Given the description of an element on the screen output the (x, y) to click on. 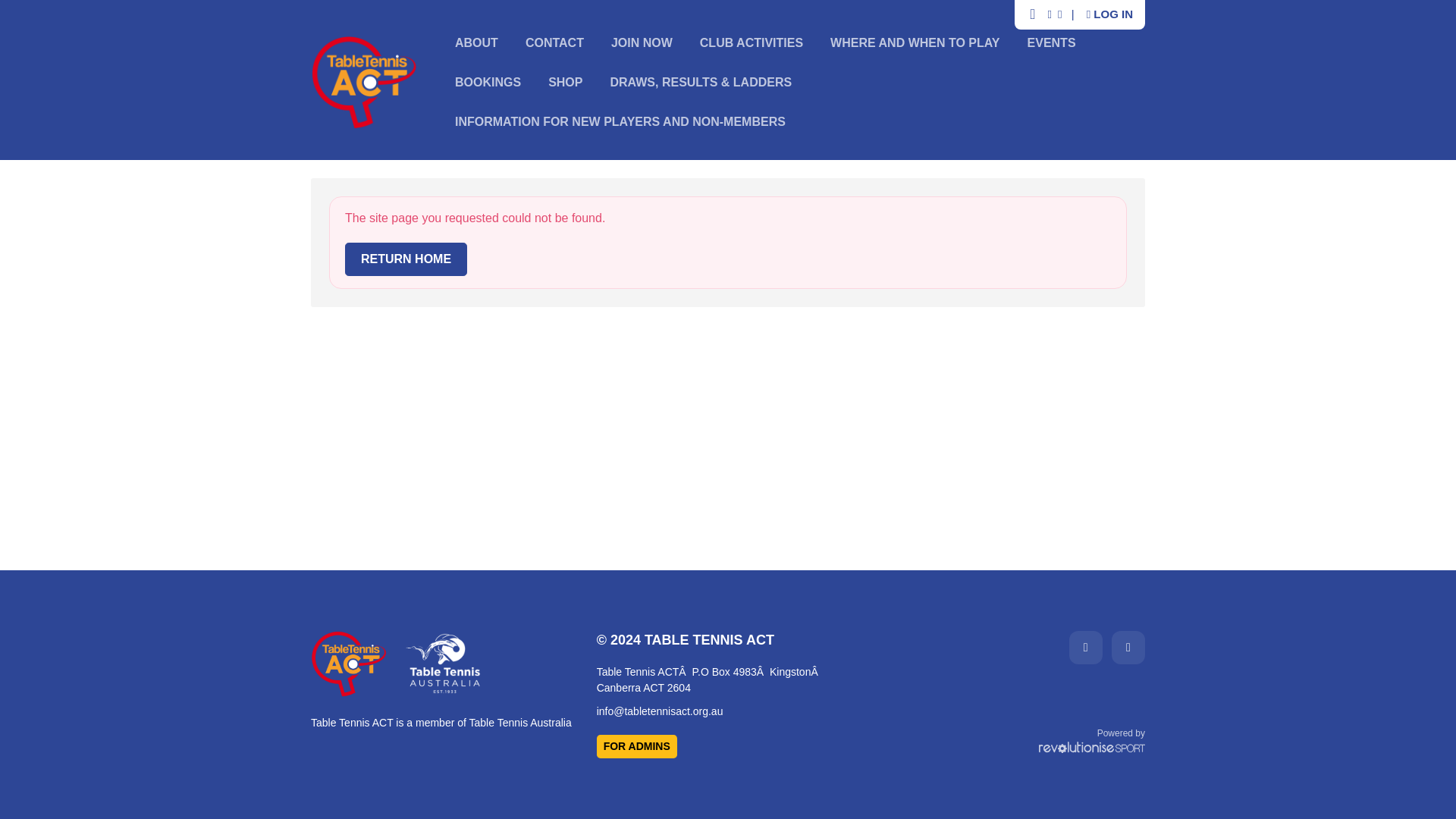
LOG IN (1109, 14)
ABOUT (476, 42)
WHERE AND WHEN TO PLAY (914, 42)
JOIN NOW (640, 42)
CLUB ACTIVITIES (750, 42)
CONTACT (554, 42)
